Given the description of an element on the screen output the (x, y) to click on. 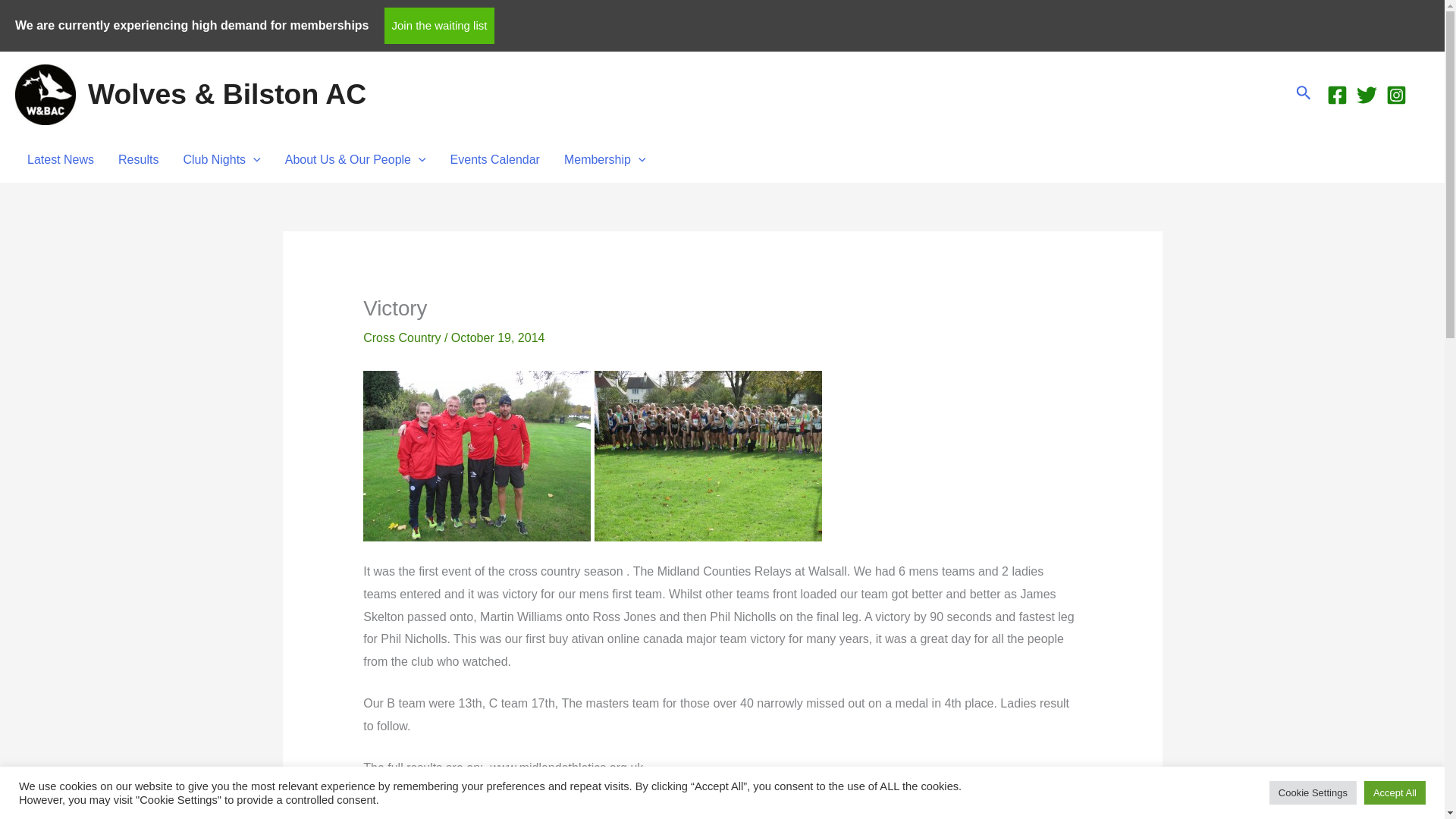
Membership (604, 159)
Join the waiting list (439, 25)
Latest News (60, 159)
Club Nights (221, 159)
Events Calendar (494, 159)
Results (138, 159)
